Given the description of an element on the screen output the (x, y) to click on. 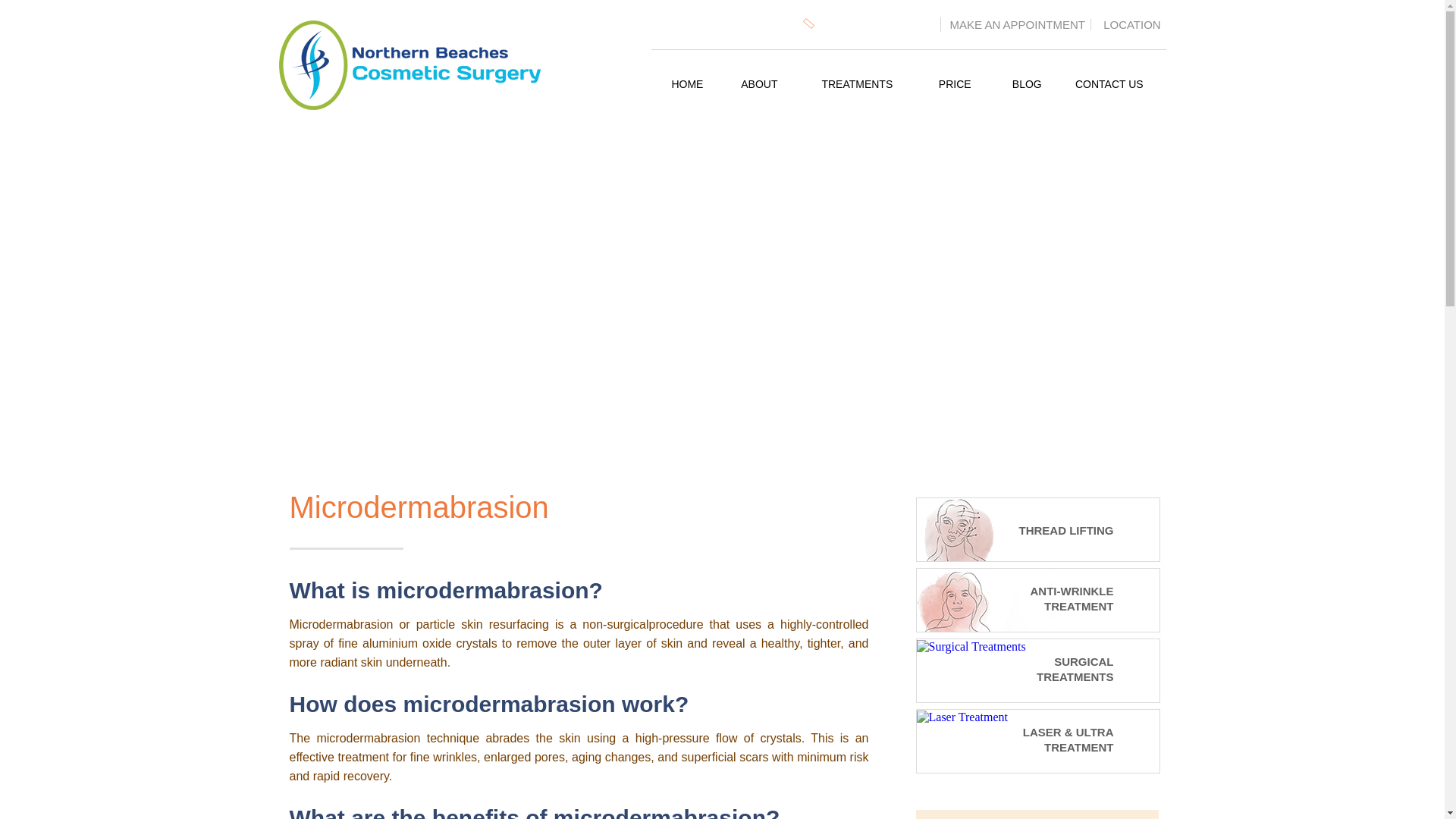
HOME Element type: text (687, 84)
THREAD LIFTING Element type: text (1015, 527)
ABOUT Element type: text (759, 84)
CONTACT US Element type: text (1109, 84)
LOCATION Element type: text (1127, 24)
BLOG Element type: text (1027, 84)
TREATMENTS Element type: text (857, 84)
MAKE AN APPOINTMENT Element type: text (1014, 24)
ANTI-WRINKLE
TREATMENT Element type: text (1015, 598)
SURGICAL
TREATMENTS Element type: text (970, 645)
PRICE Element type: text (955, 84)
LASER & ULTRA
TREATMENT Element type: text (961, 715)
